Given the description of an element on the screen output the (x, y) to click on. 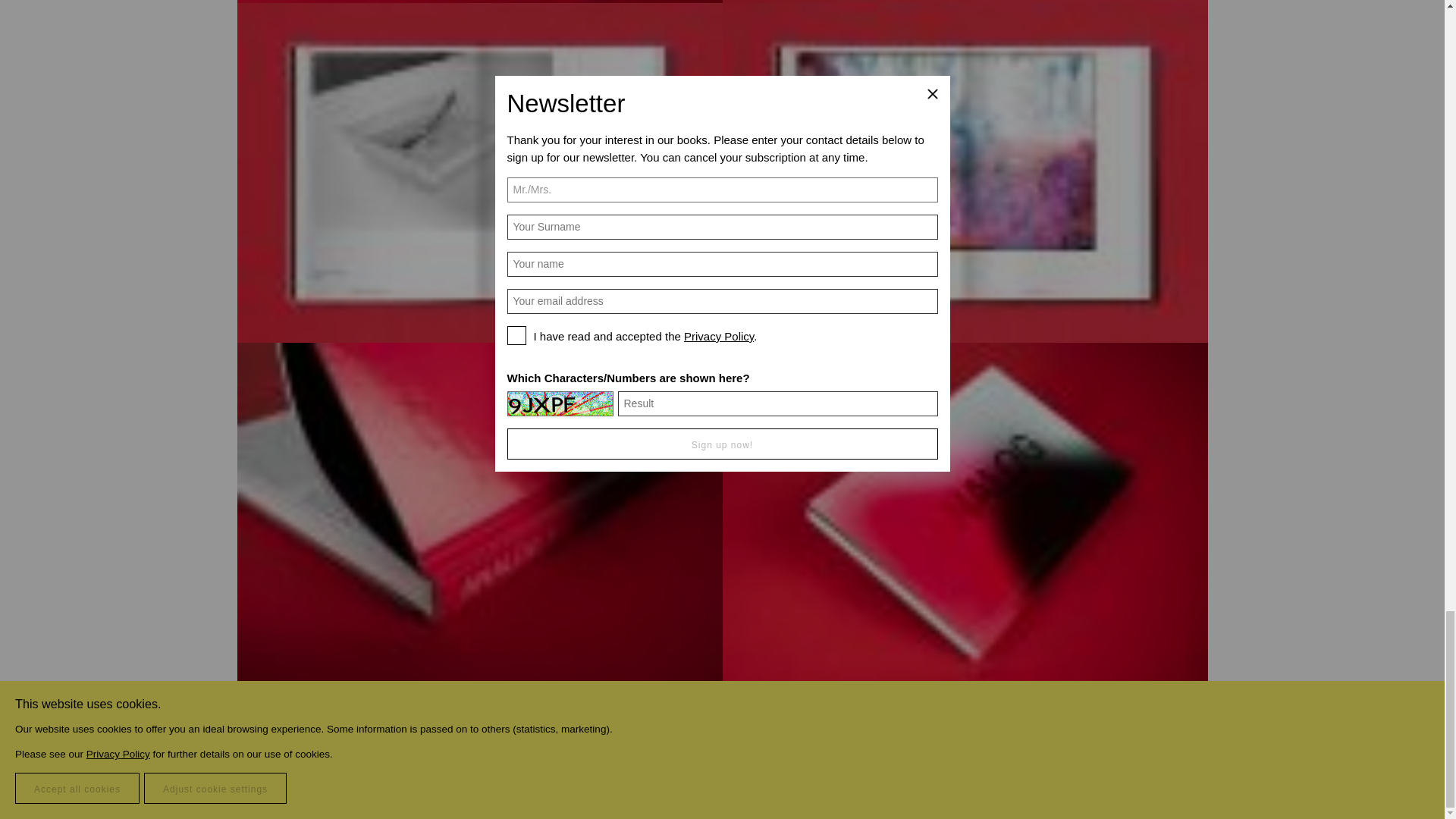
Verlag Kettler: Legal Notice (615, 787)
Phone (286, 788)
E-Mail (263, 788)
Verlag Kettler: Newsletter (560, 787)
Startseite (1154, 785)
Verlag Kettler: Privacy Policy (895, 787)
Add to Cart! (964, 712)
Facebook (308, 788)
Verlag Kettler: General Terms and Conditions (709, 787)
Instagram (331, 788)
